Given the description of an element on the screen output the (x, y) to click on. 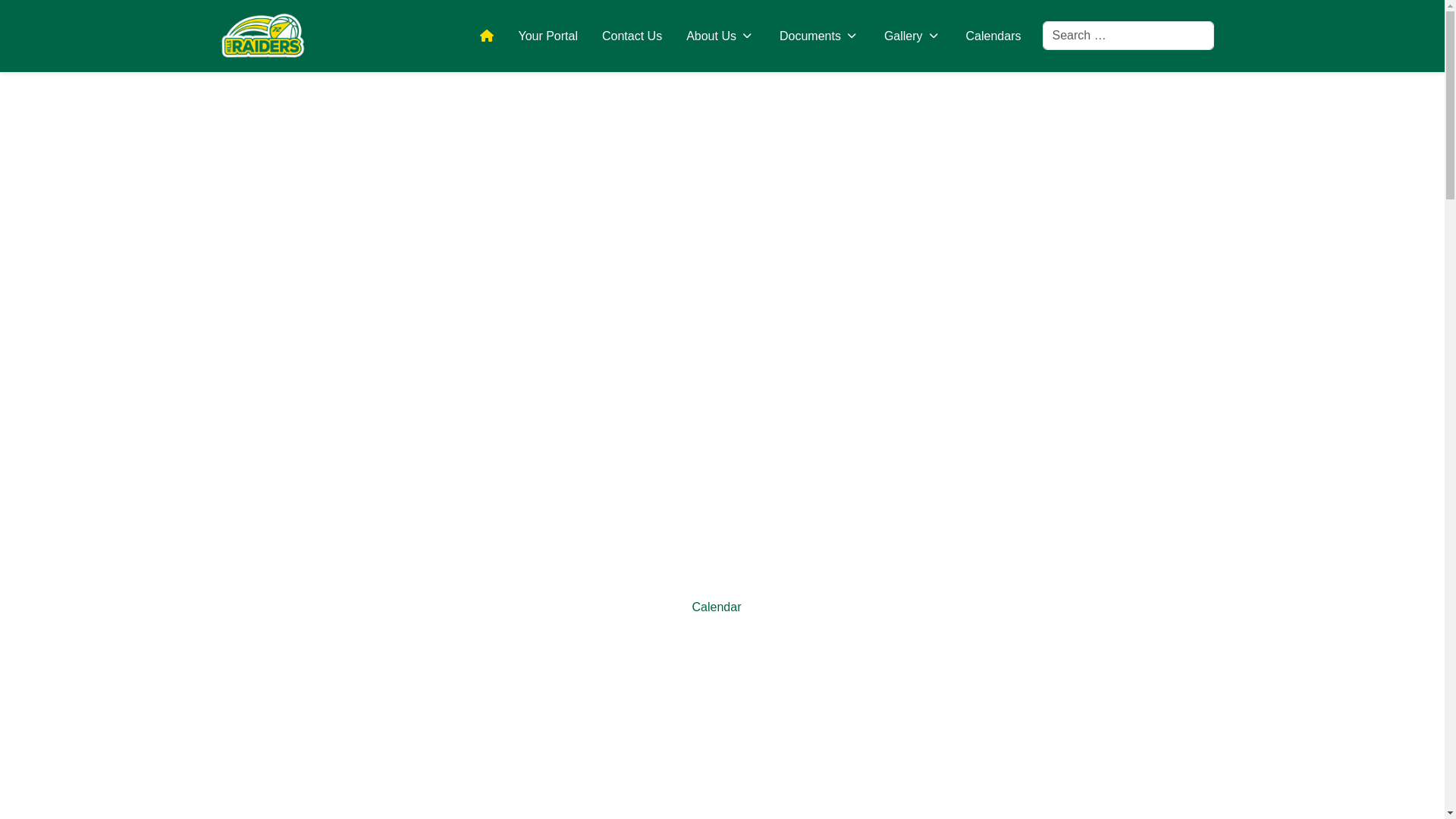
Gallery Element type: text (912, 35)
Calendars Element type: text (993, 35)
Documents Element type: text (819, 35)
Contact Us Element type: text (631, 35)
About Us Element type: text (720, 35)
Home Element type: hover (486, 35)
Your Portal Element type: text (547, 35)
